Given the description of an element on the screen output the (x, y) to click on. 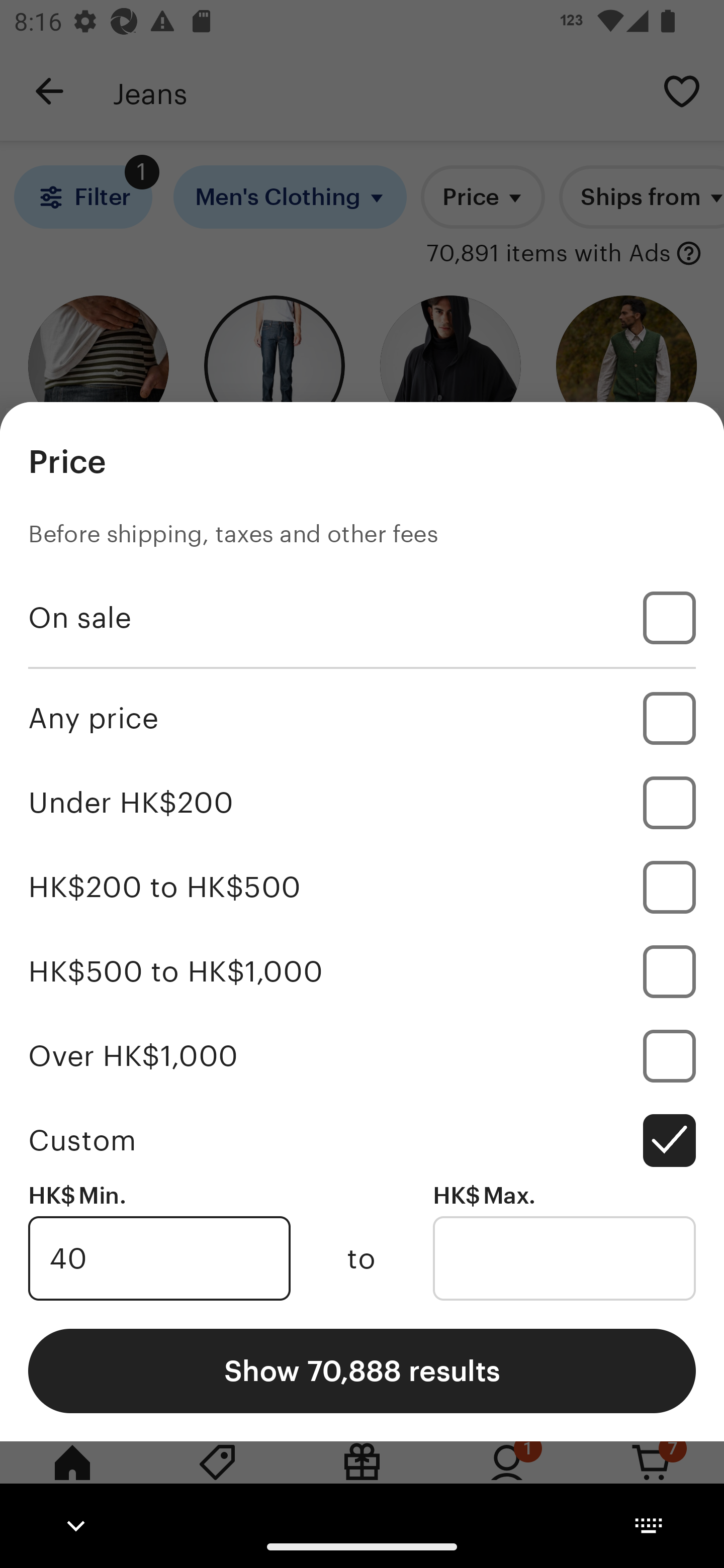
On sale (362, 617)
Any price (362, 717)
Under HK$200 (362, 802)
HK$200 to HK$500 (362, 887)
HK$500 to HK$1,000 (362, 970)
Over HK$1,000 (362, 1054)
Custom (362, 1139)
40 (159, 1257)
Show 70,888 results (361, 1370)
